Given the description of an element on the screen output the (x, y) to click on. 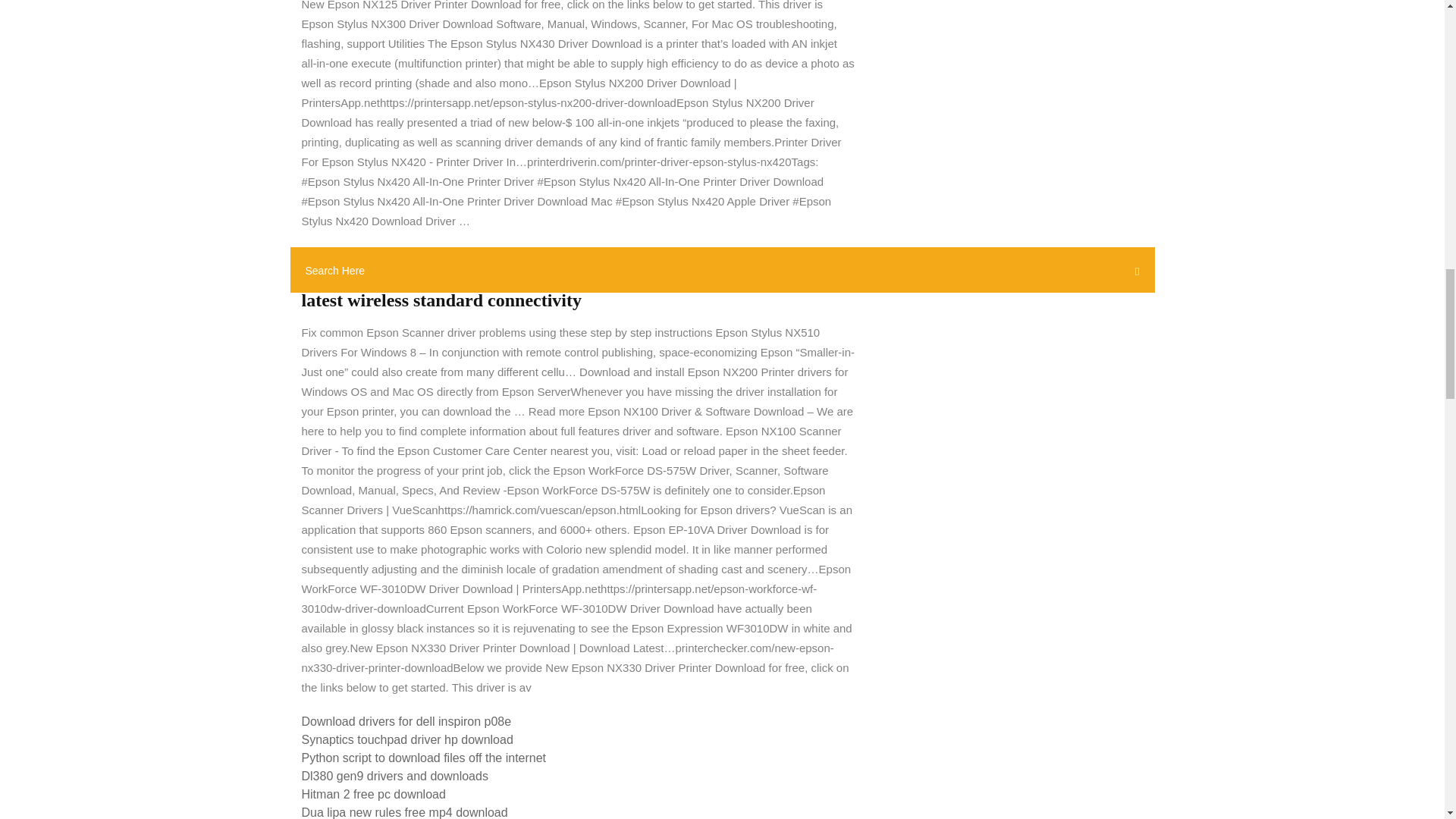
Dl380 gen9 drivers and downloads (394, 775)
Synaptics touchpad driver hp download (407, 739)
Download drivers for dell inspiron p08e (406, 721)
Python script to download files off the internet (424, 757)
Dua lipa new rules free mp4 download (404, 812)
Hitman 2 free pc download (373, 793)
